Given the description of an element on the screen output the (x, y) to click on. 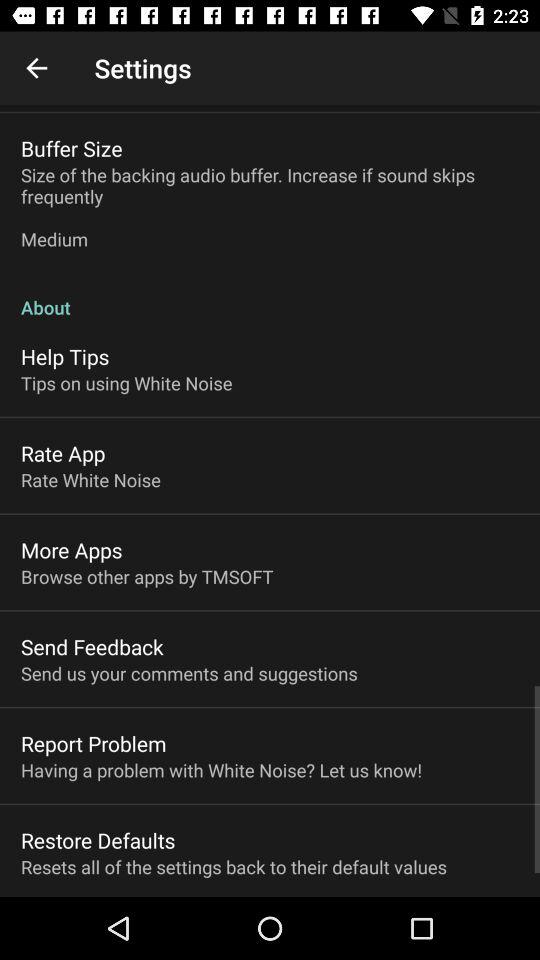
scroll until the rate app item (63, 453)
